Given the description of an element on the screen output the (x, y) to click on. 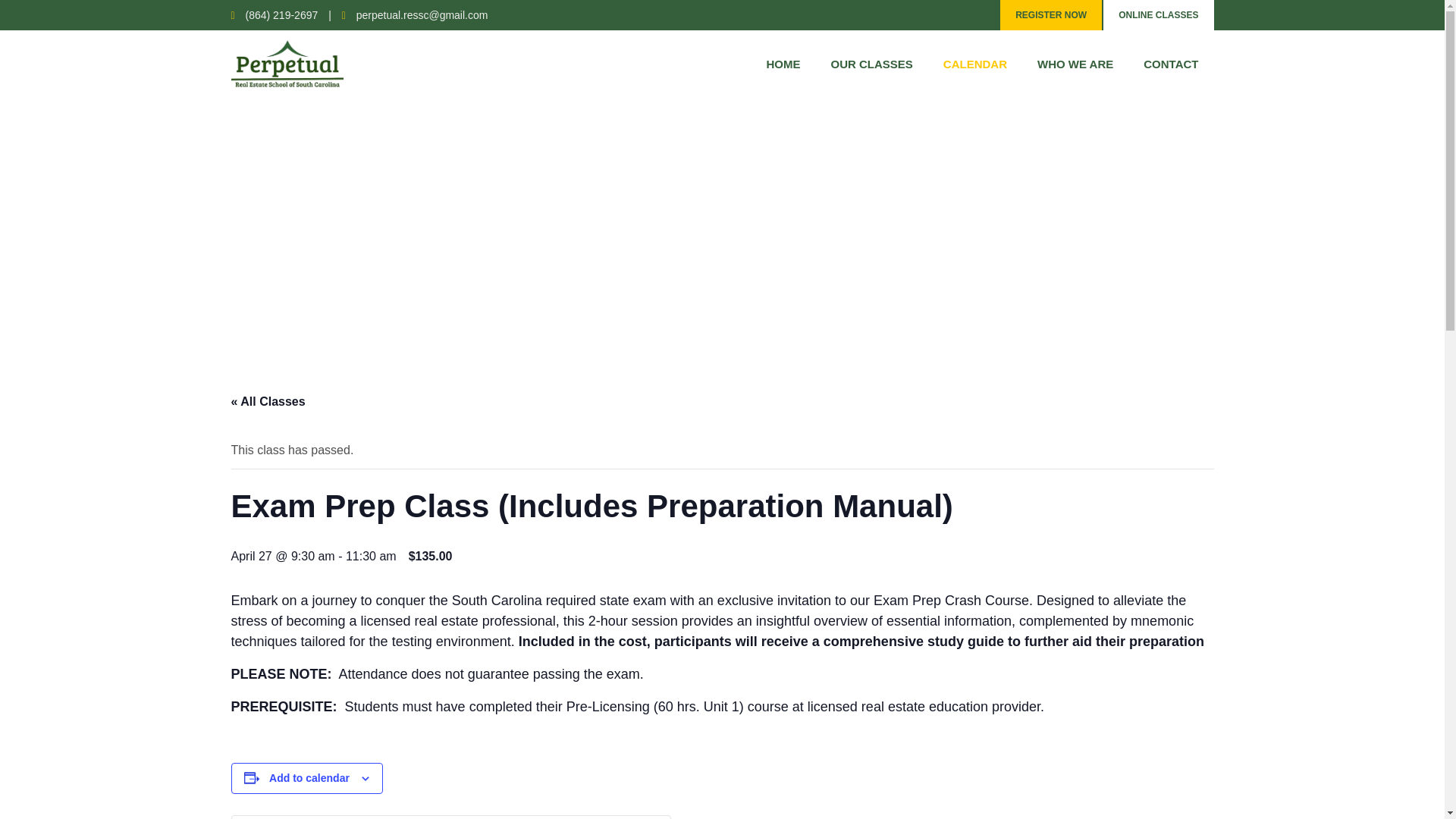
OUR CLASSES (870, 63)
CALENDAR (975, 63)
HOME (782, 63)
ONLINE CLASSES (1157, 15)
CONTACT (1170, 63)
REGISTER NOW (1051, 15)
WHO WE ARE (1074, 63)
Add to calendar (309, 777)
